Given the description of an element on the screen output the (x, y) to click on. 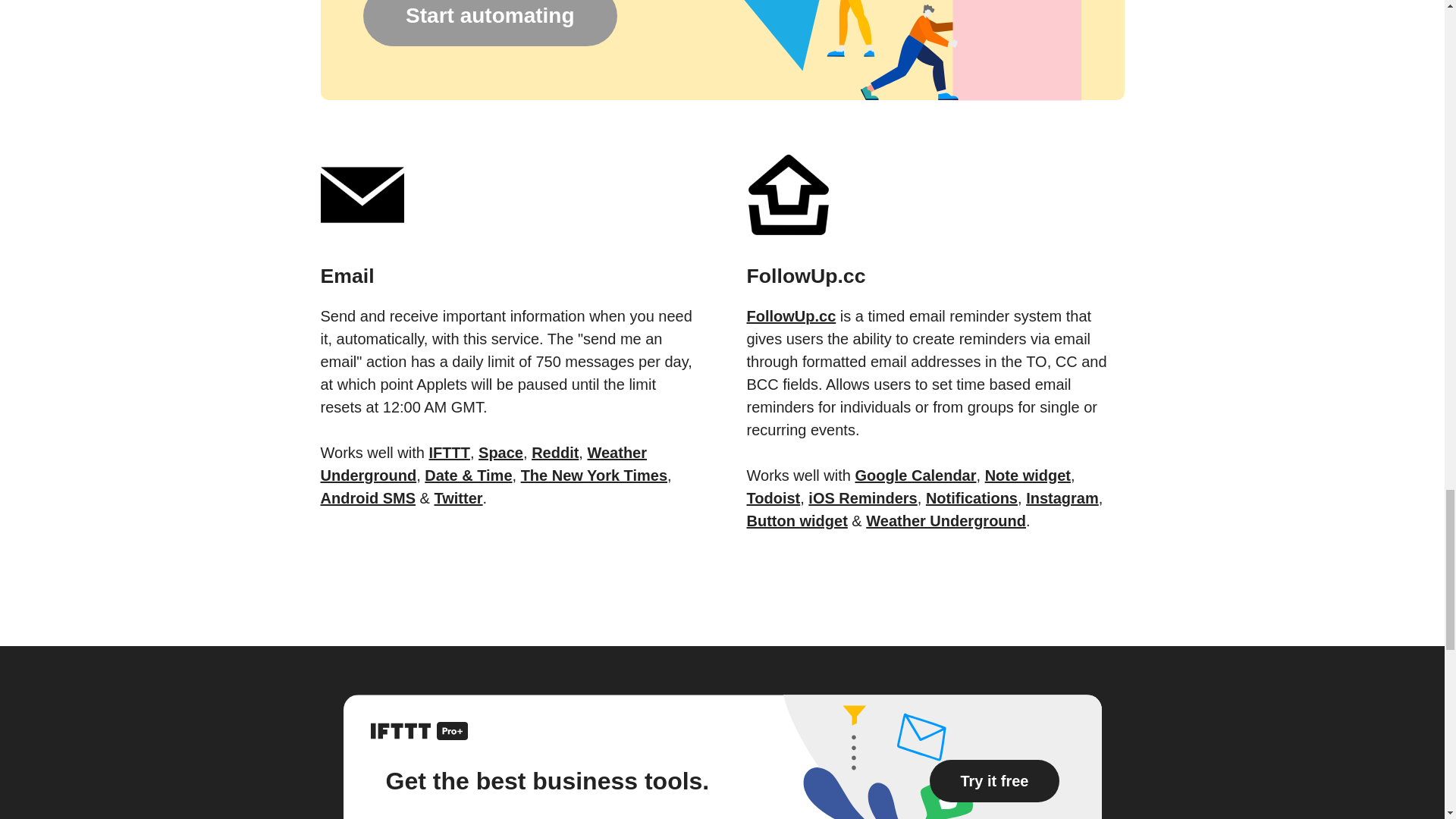
Start automating (488, 22)
